Given the description of an element on the screen output the (x, y) to click on. 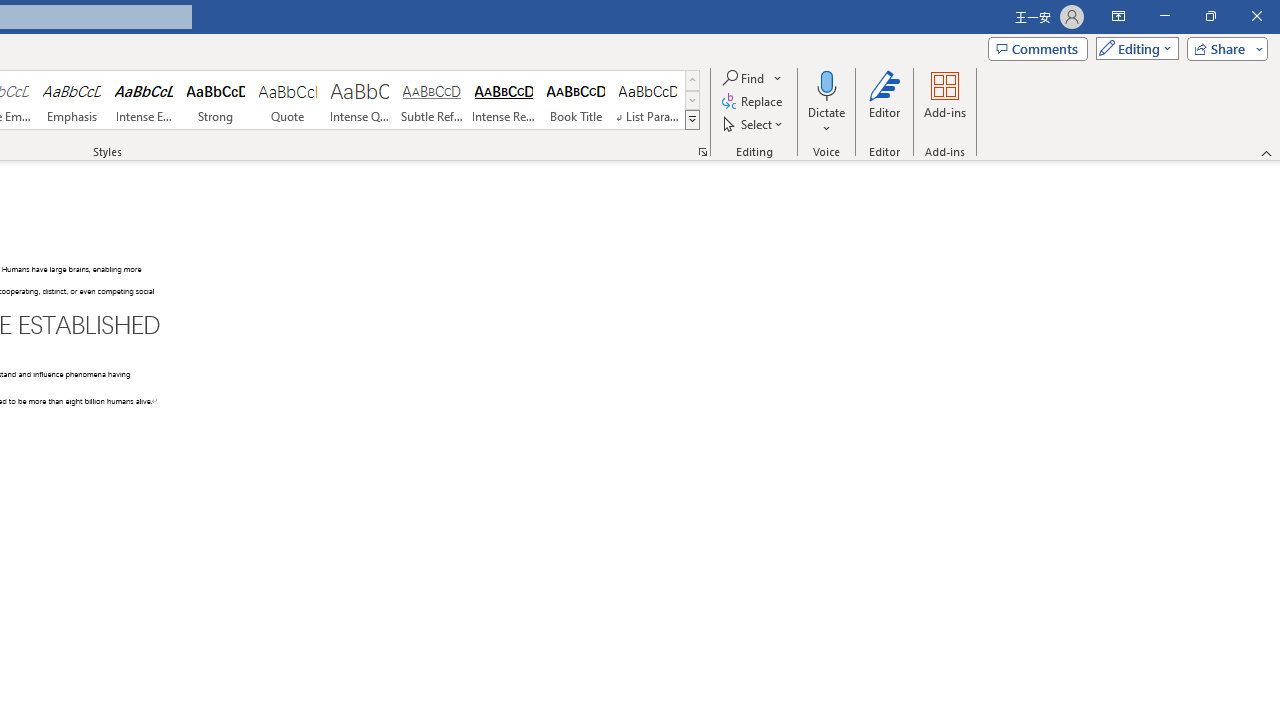
Book Title (575, 100)
Intense Emphasis (143, 100)
Intense Reference (504, 100)
